Given the description of an element on the screen output the (x, y) to click on. 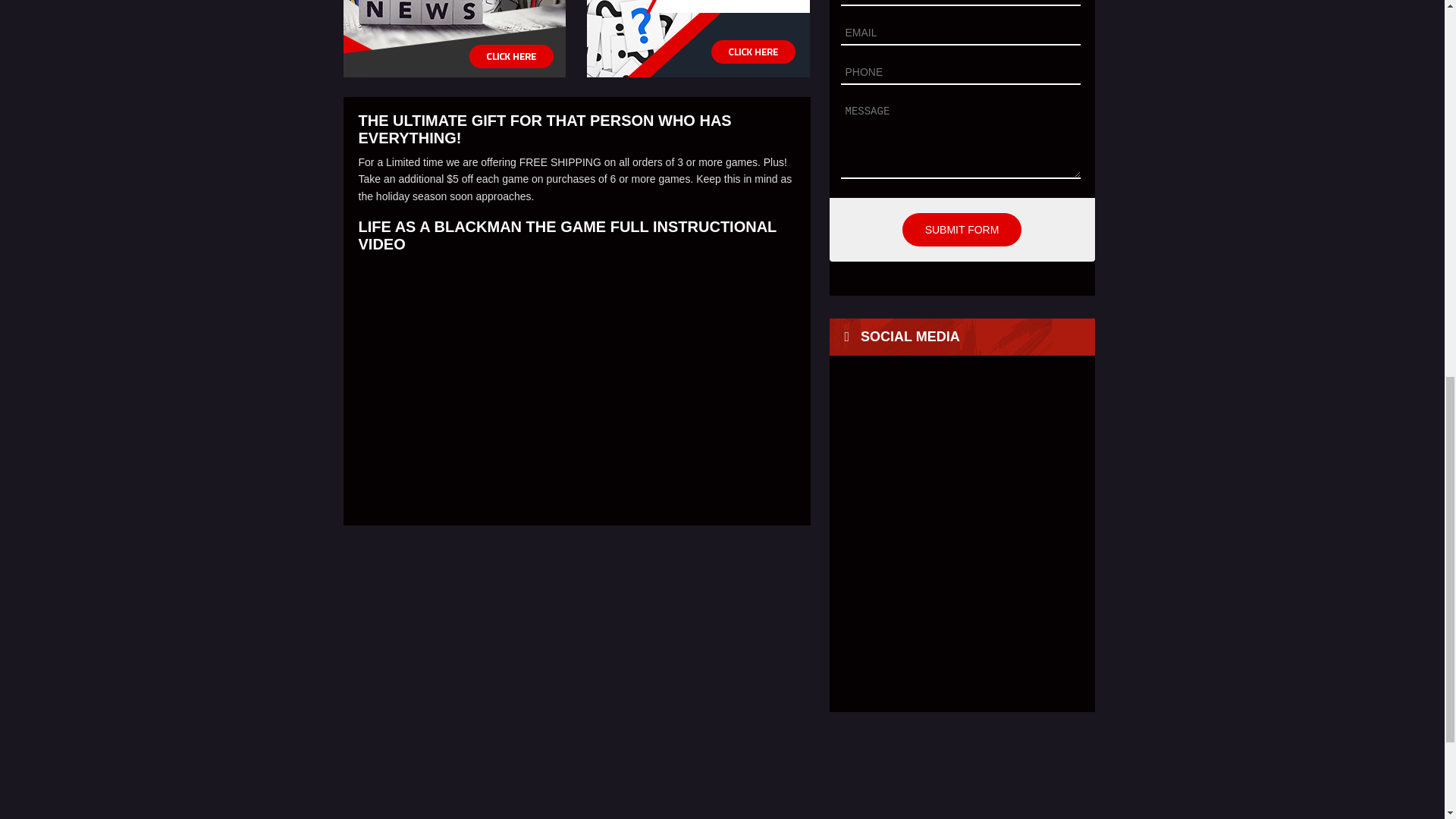
Name (960, 2)
Email (960, 33)
Phone (960, 72)
Submit Form (962, 229)
Submit Form (962, 229)
News (453, 38)
Store (943, 776)
Message (960, 139)
Faq (697, 38)
